Given the description of an element on the screen output the (x, y) to click on. 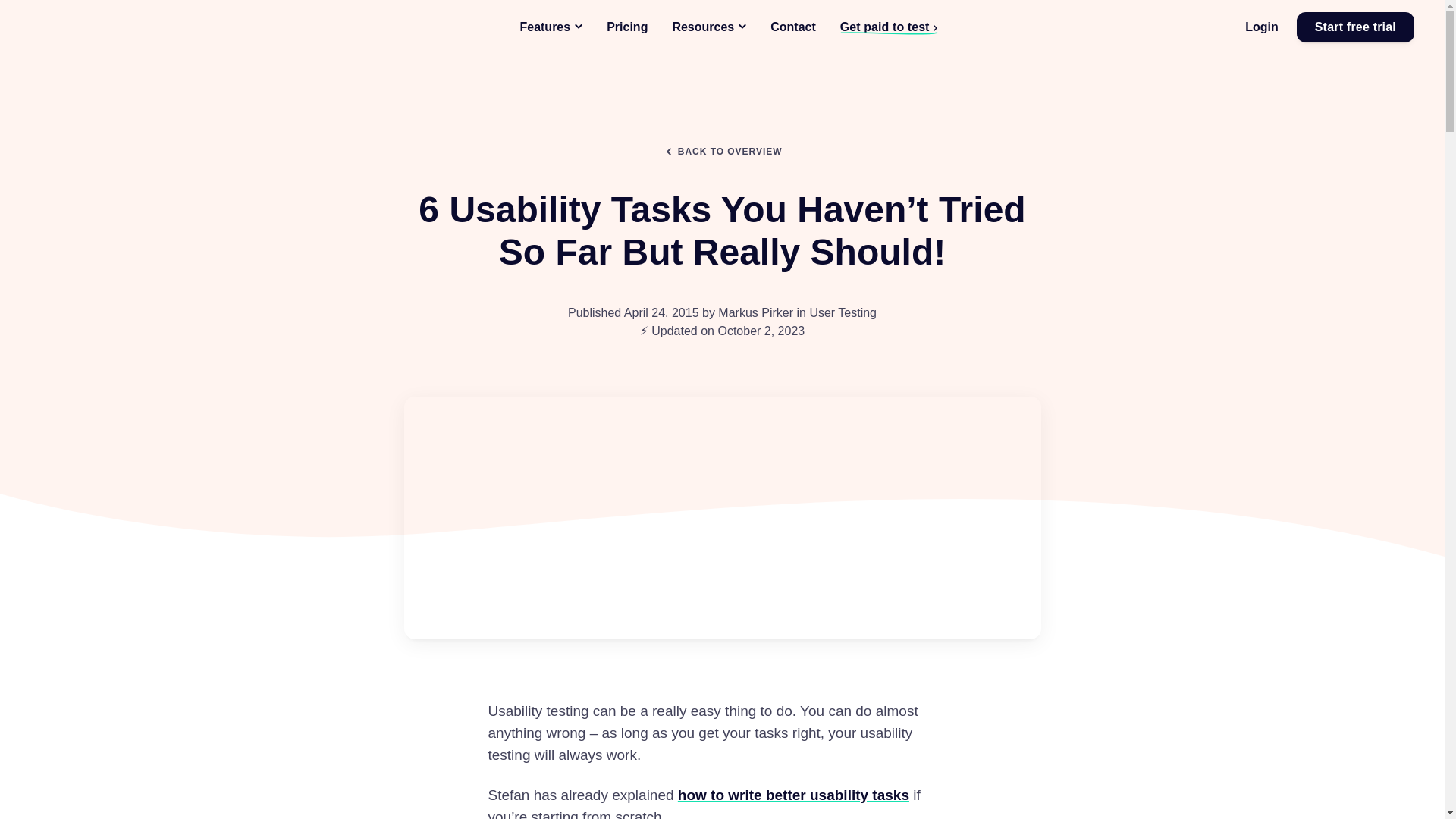
Login (1261, 26)
Get paid to test (888, 26)
Features (550, 27)
BACK TO OVERVIEW (722, 151)
Pricing (626, 26)
Resources (708, 27)
Markus Pirker (755, 312)
User Testing (842, 312)
Start free trial (1355, 27)
how to write better usability tasks (793, 795)
